Given the description of an element on the screen output the (x, y) to click on. 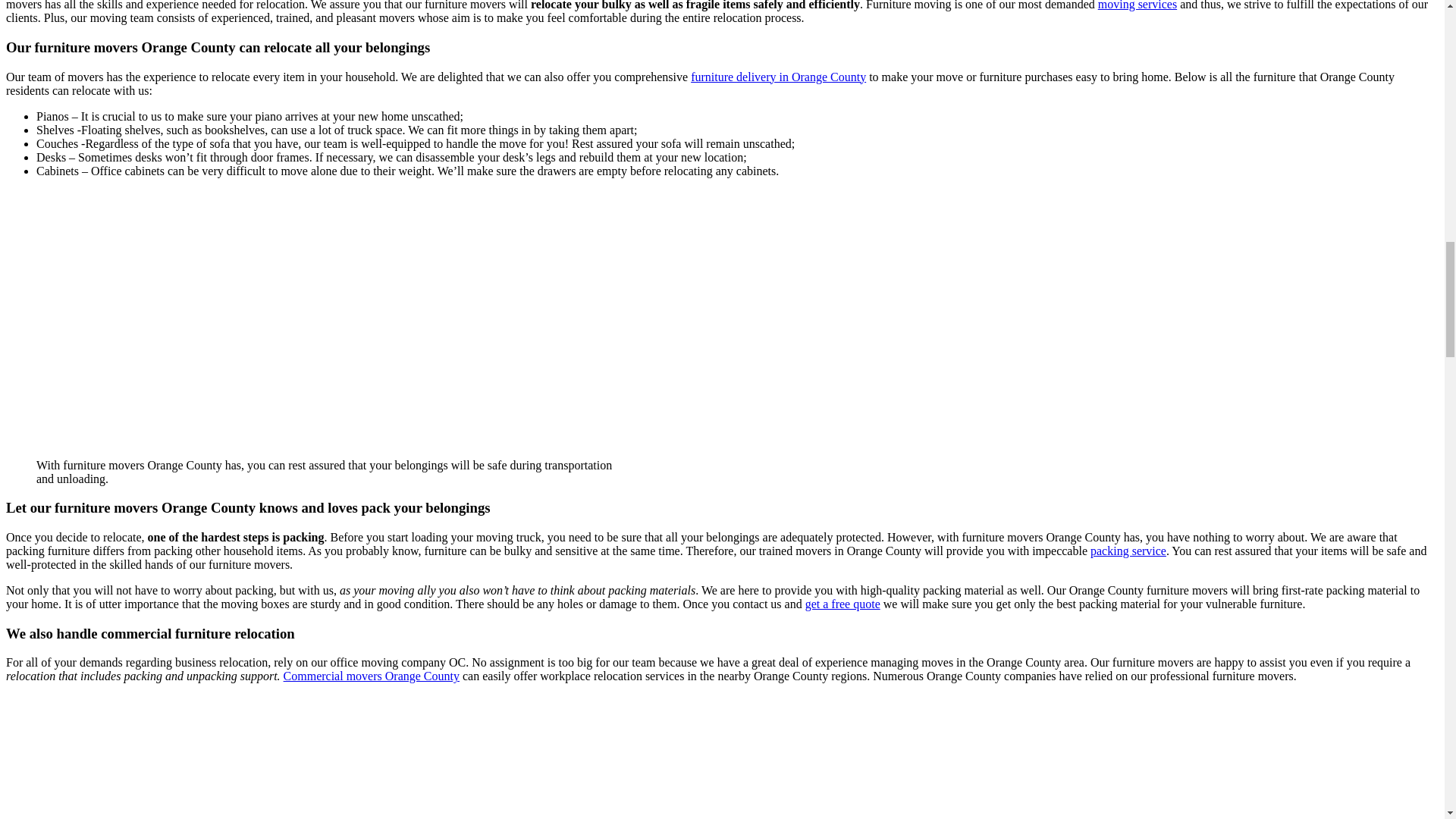
moving services (1136, 5)
packing service (1128, 550)
furniture delivery in Orange County (778, 75)
Commercial movers Orange County (371, 675)
get a free quote (842, 603)
